Given the description of an element on the screen output the (x, y) to click on. 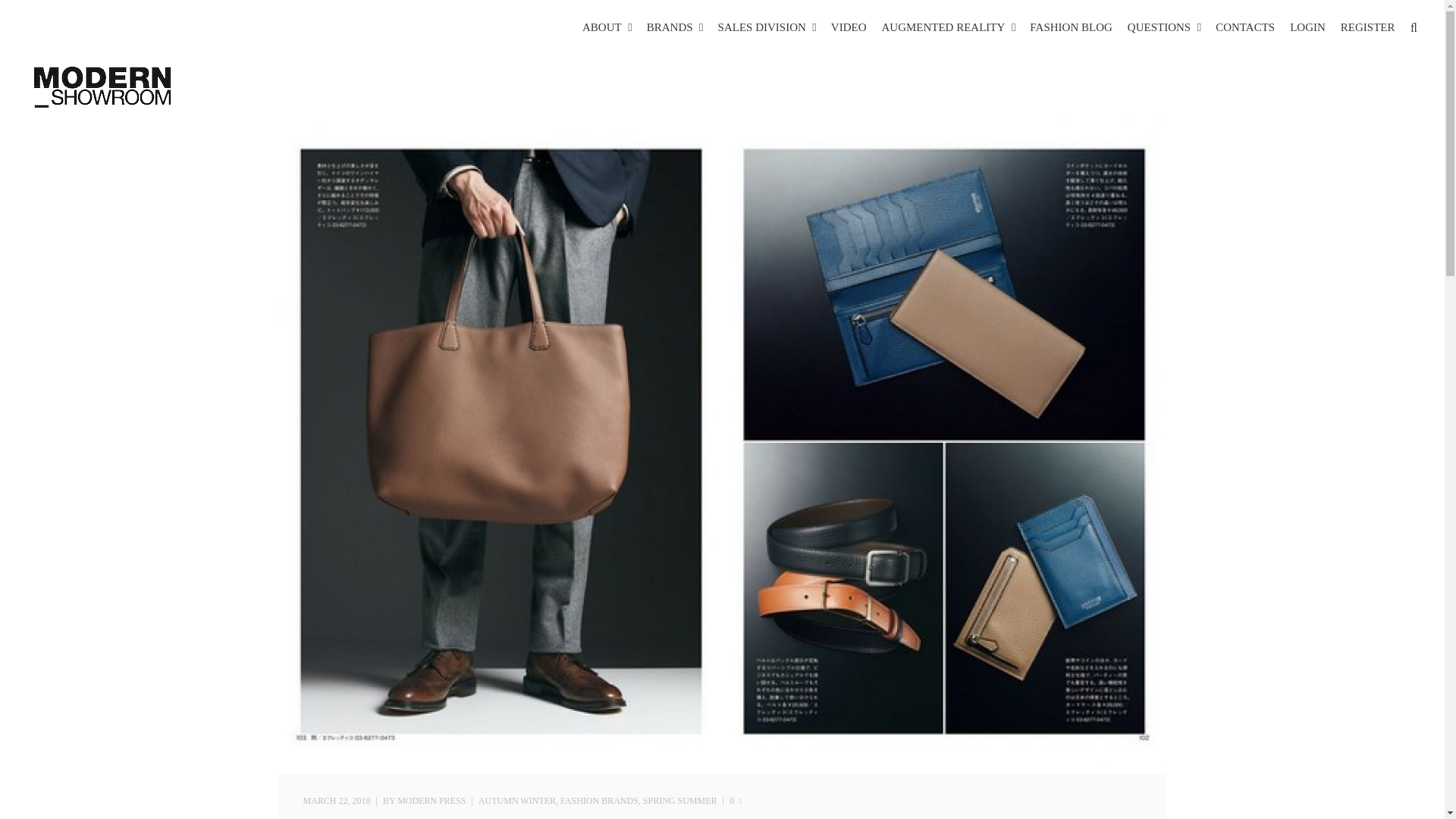
VIDEO (848, 27)
QUESTIONS (1158, 27)
CONTACTS (1245, 27)
MODERN PRESS (431, 799)
Search (1416, 27)
SALES DIVISION (761, 27)
REGISTER (1367, 27)
LOGIN (1307, 27)
FASHION BLOG (1070, 27)
BRANDS (669, 27)
